Given the description of an element on the screen output the (x, y) to click on. 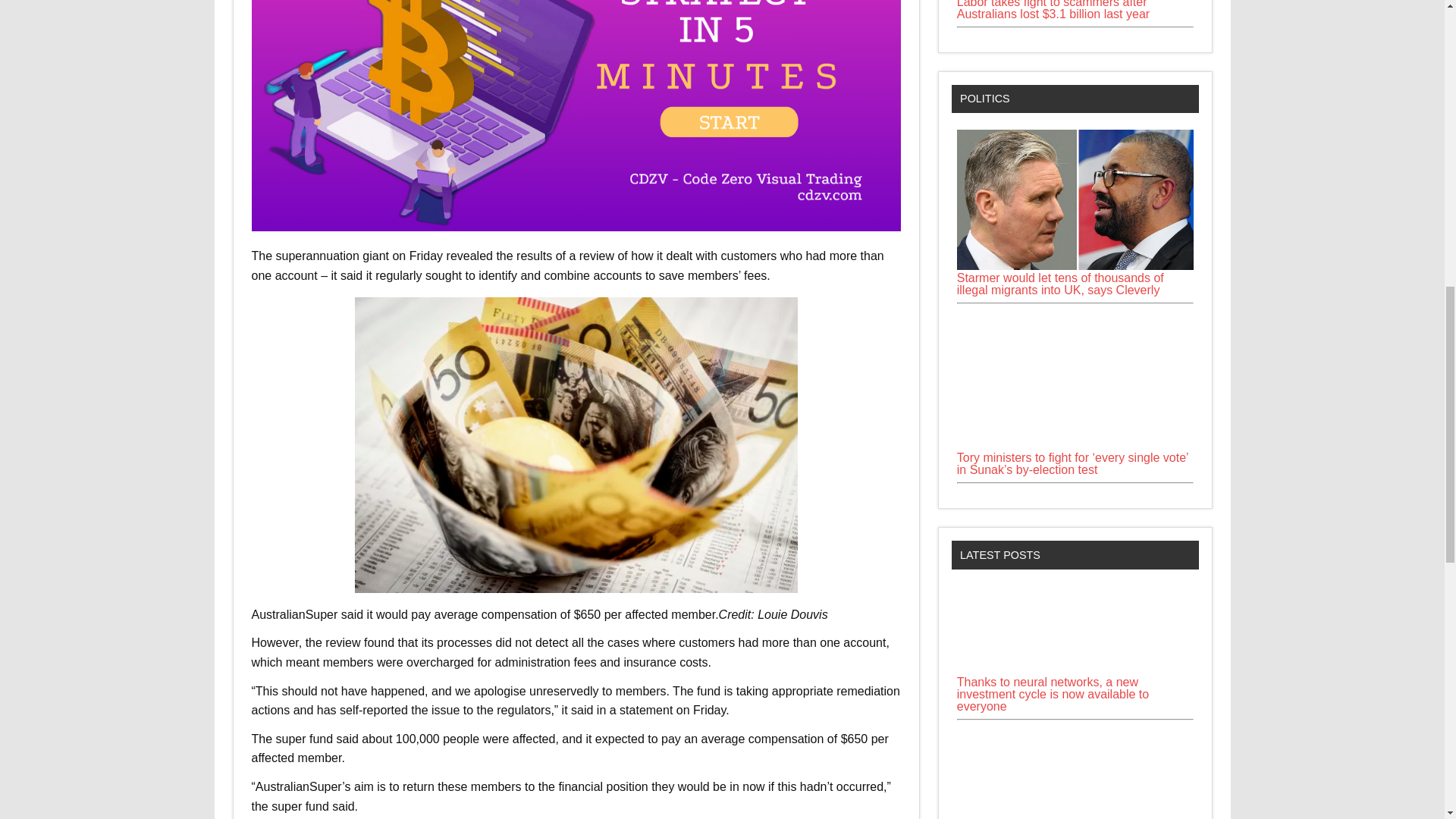
Prague university shooting leaves several dead, police say (1074, 772)
